Given the description of an element on the screen output the (x, y) to click on. 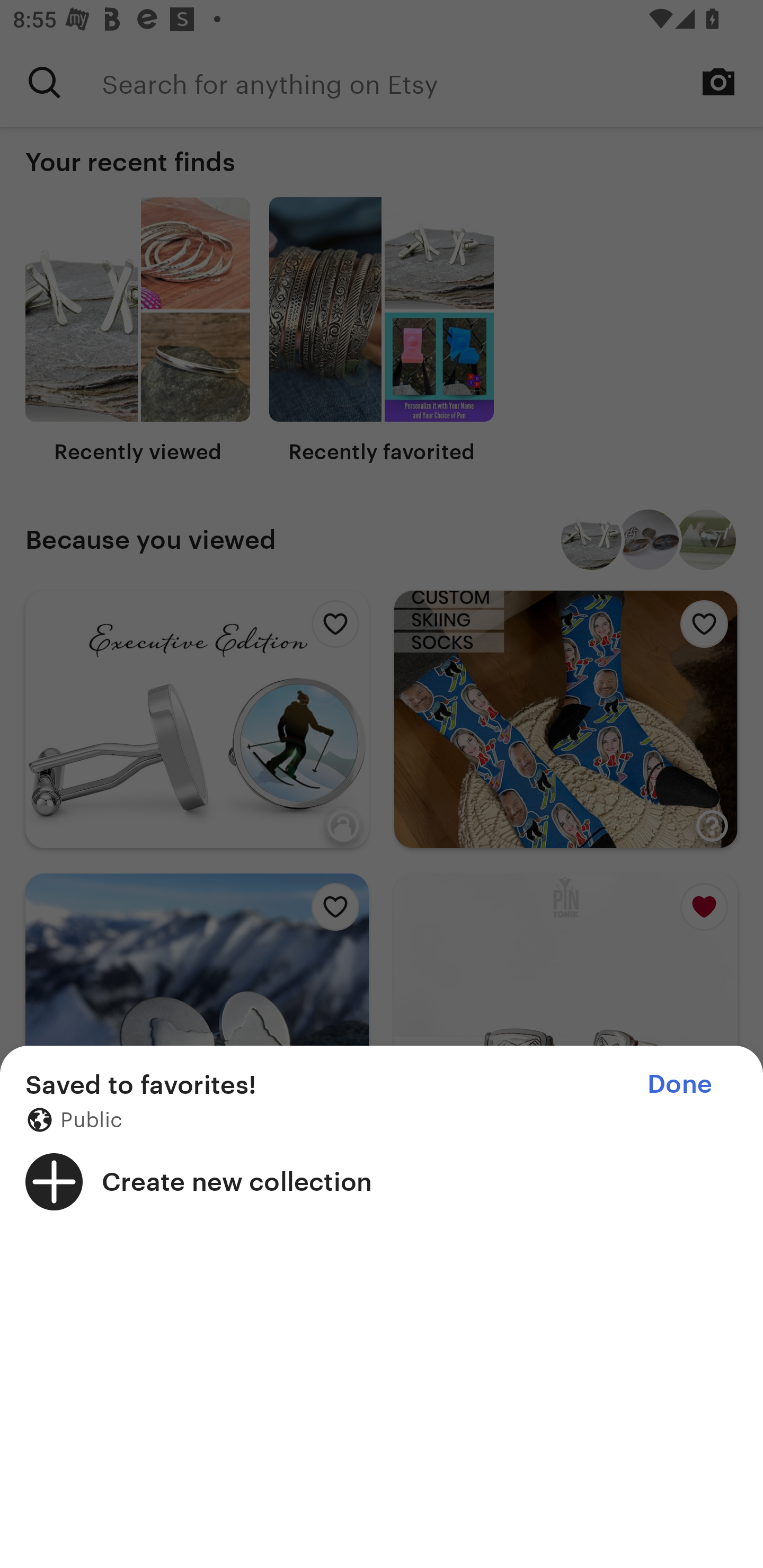
Done (679, 1083)
Create new collection (381, 1181)
